Given the description of an element on the screen output the (x, y) to click on. 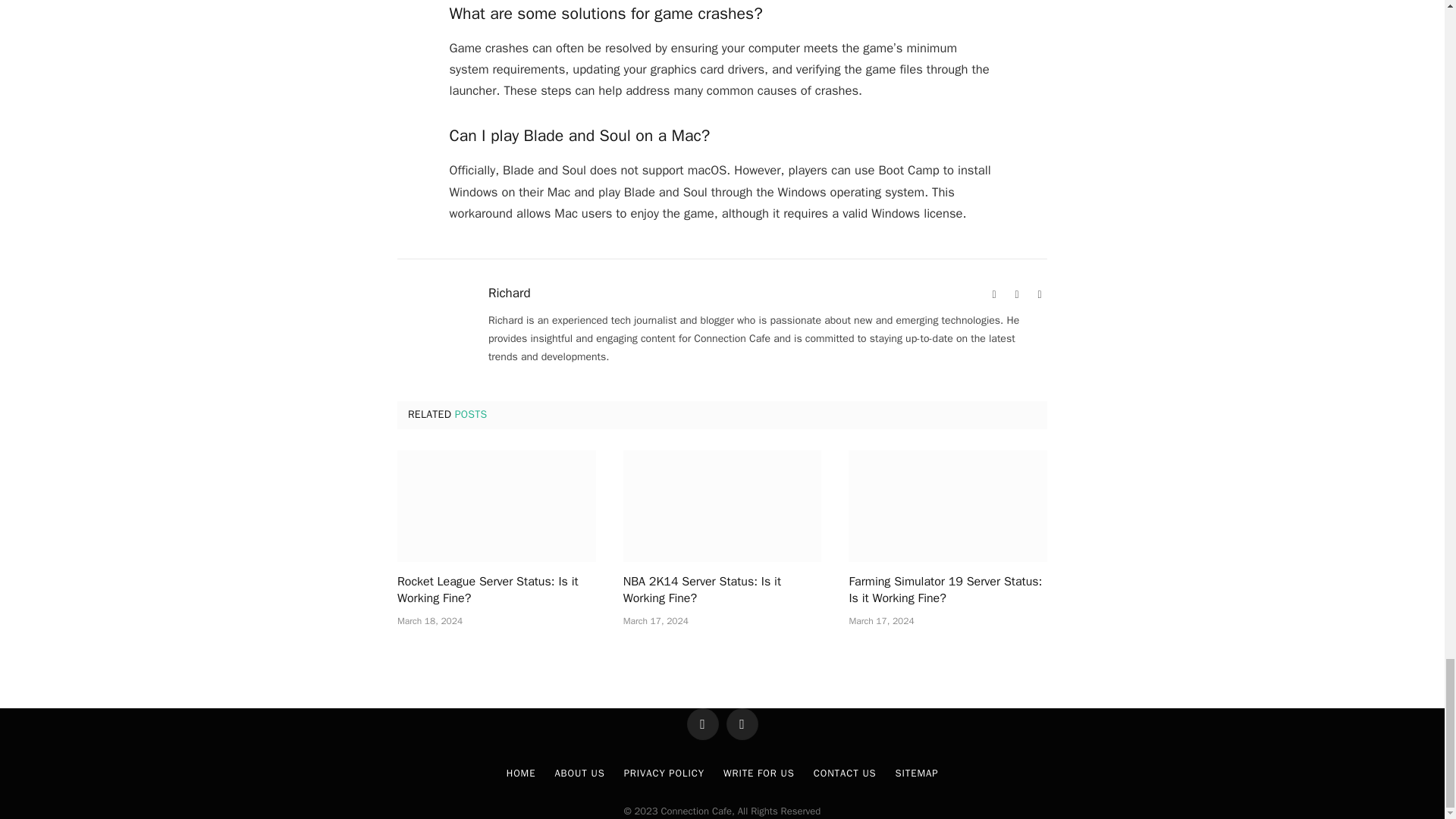
NBA 2K14 Server Status: Is it Working Fine? (722, 505)
Farming Simulator 19 Server Status: Is it Working Fine? (947, 505)
Rocket League Server Status: Is it Working Fine? (496, 505)
Facebook (1017, 294)
Website (994, 294)
Posts by Richard (509, 293)
Twitter (1039, 294)
